Given the description of an element on the screen output the (x, y) to click on. 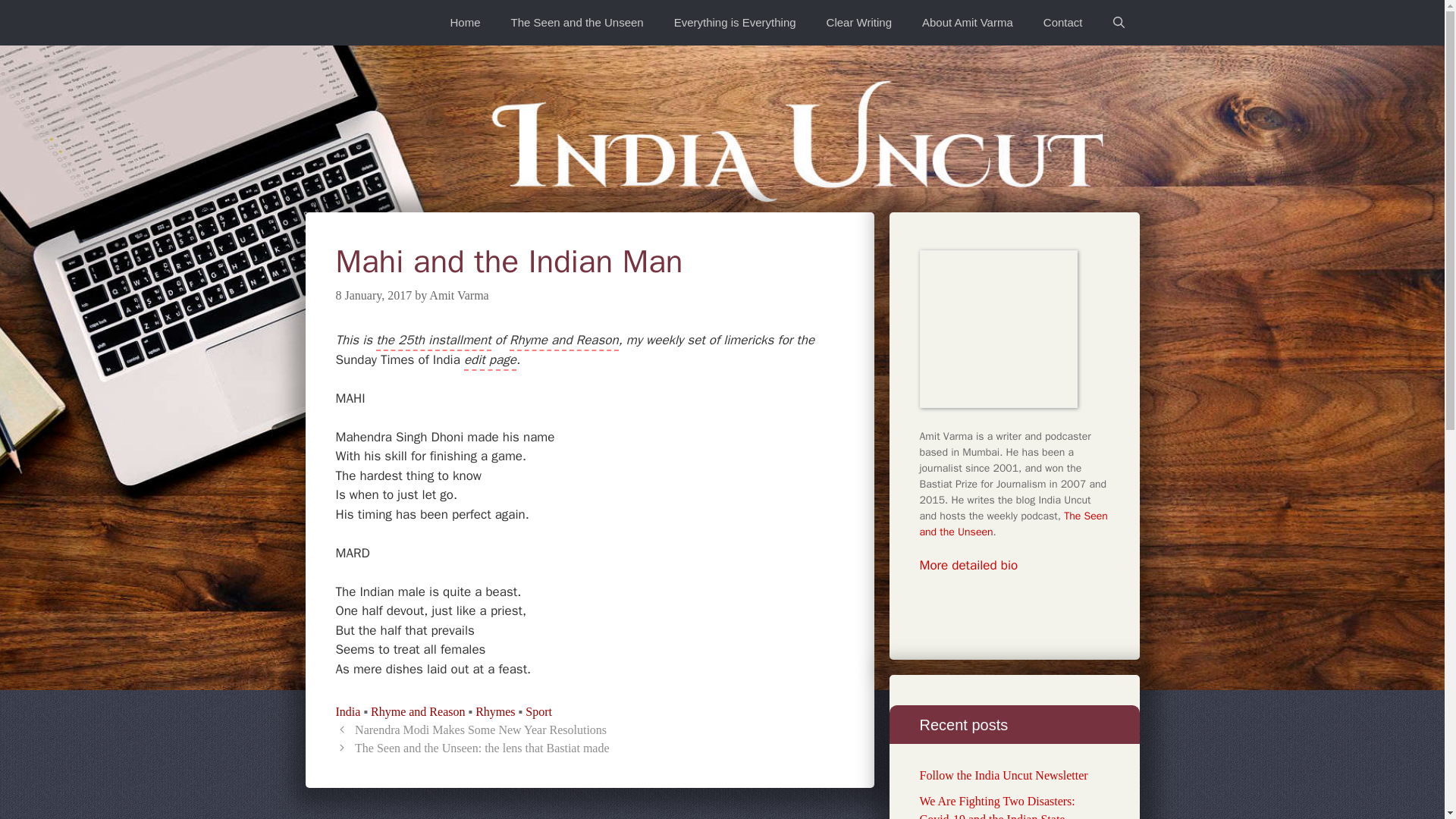
Contact (1062, 22)
Narendra Modi Makes Some New Year Resolutions (481, 729)
Rhyme and Reason -- Amit Varma (563, 341)
Sport (538, 711)
The Seen and the Unseen: the lens that Bastiat made (481, 748)
Mahi and the Indian Man (432, 341)
India (346, 711)
Rhymes (495, 711)
Home (465, 22)
Rhyme and Reason (563, 341)
the 25th installment (432, 341)
About Amit Varma (967, 22)
edit page (490, 361)
The Seen and the Unseen (1012, 523)
Everything is Everything (734, 22)
